Given the description of an element on the screen output the (x, y) to click on. 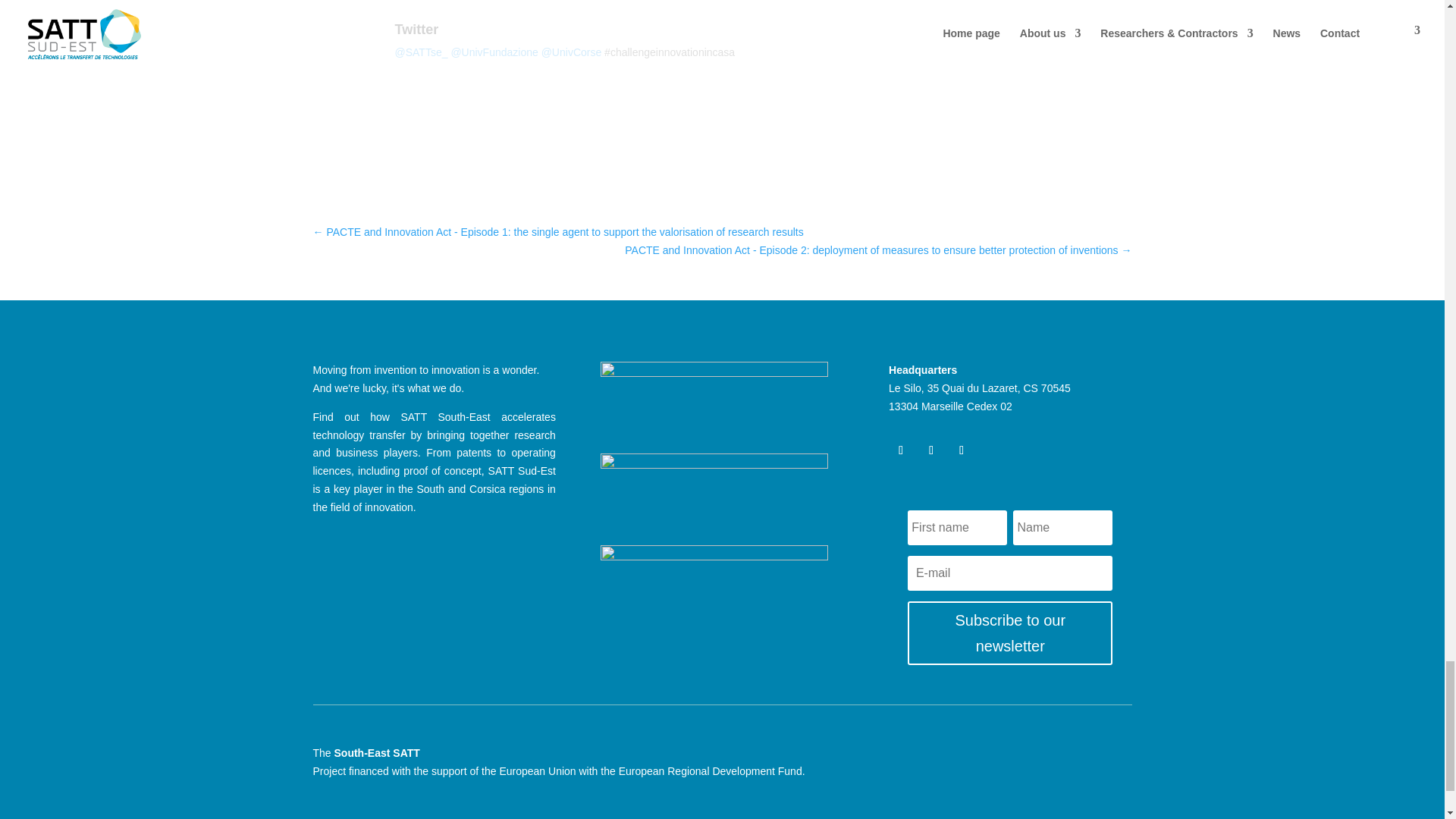
Follow on LinkedIn (900, 450)
Suivez sur Instagram (961, 450)
Follow on Youtube (930, 450)
